Given the description of an element on the screen output the (x, y) to click on. 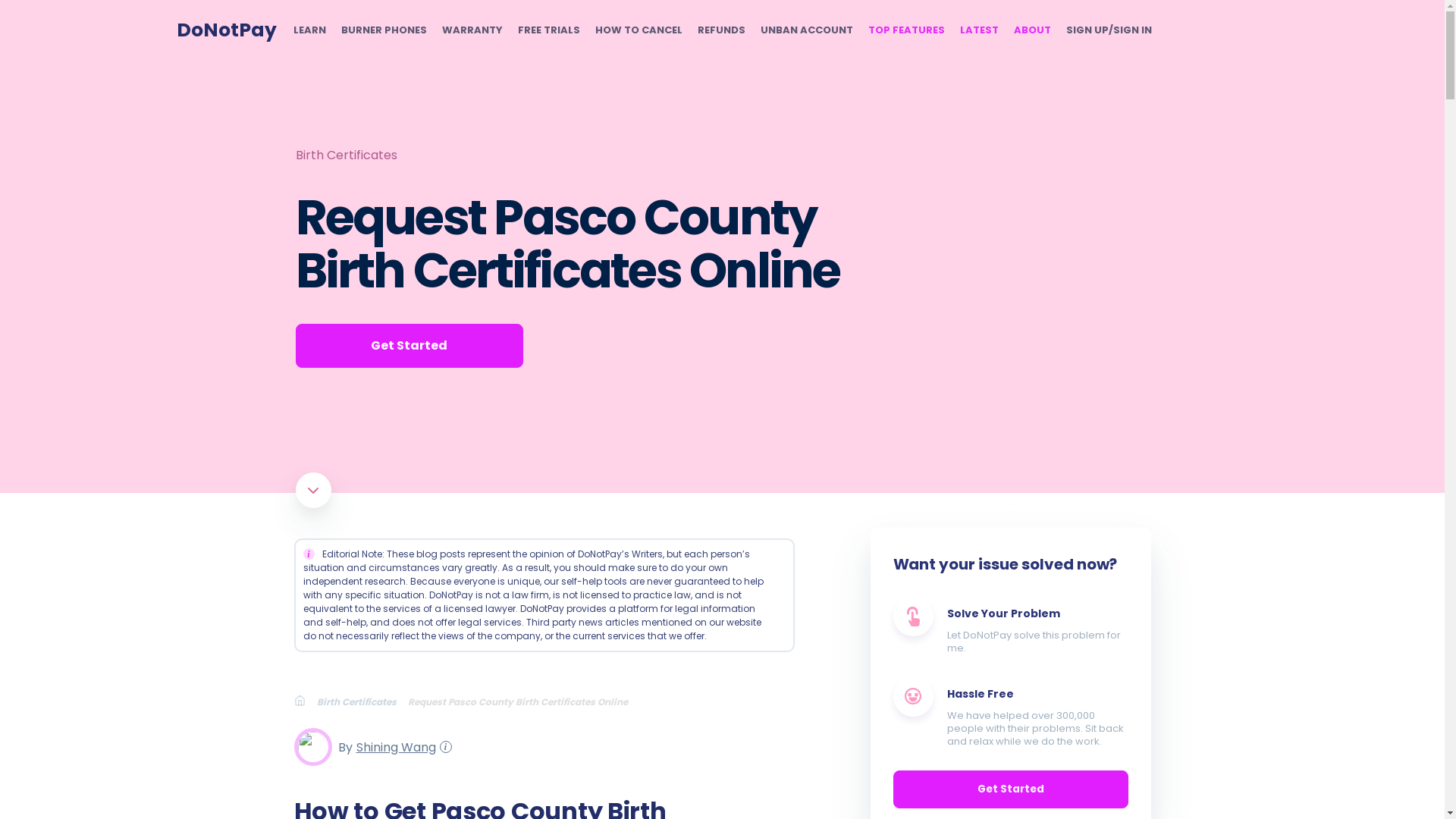
DoNotPay (226, 29)
LEARN (308, 29)
WARRANTY (471, 29)
Shining Wang (393, 746)
UNBAN ACCOUNT (805, 29)
REFUNDS (721, 29)
Birth Certificates (346, 154)
BURNER PHONES (383, 29)
TOP FEATURES (905, 29)
FREE TRIALS (547, 29)
